Given the description of an element on the screen output the (x, y) to click on. 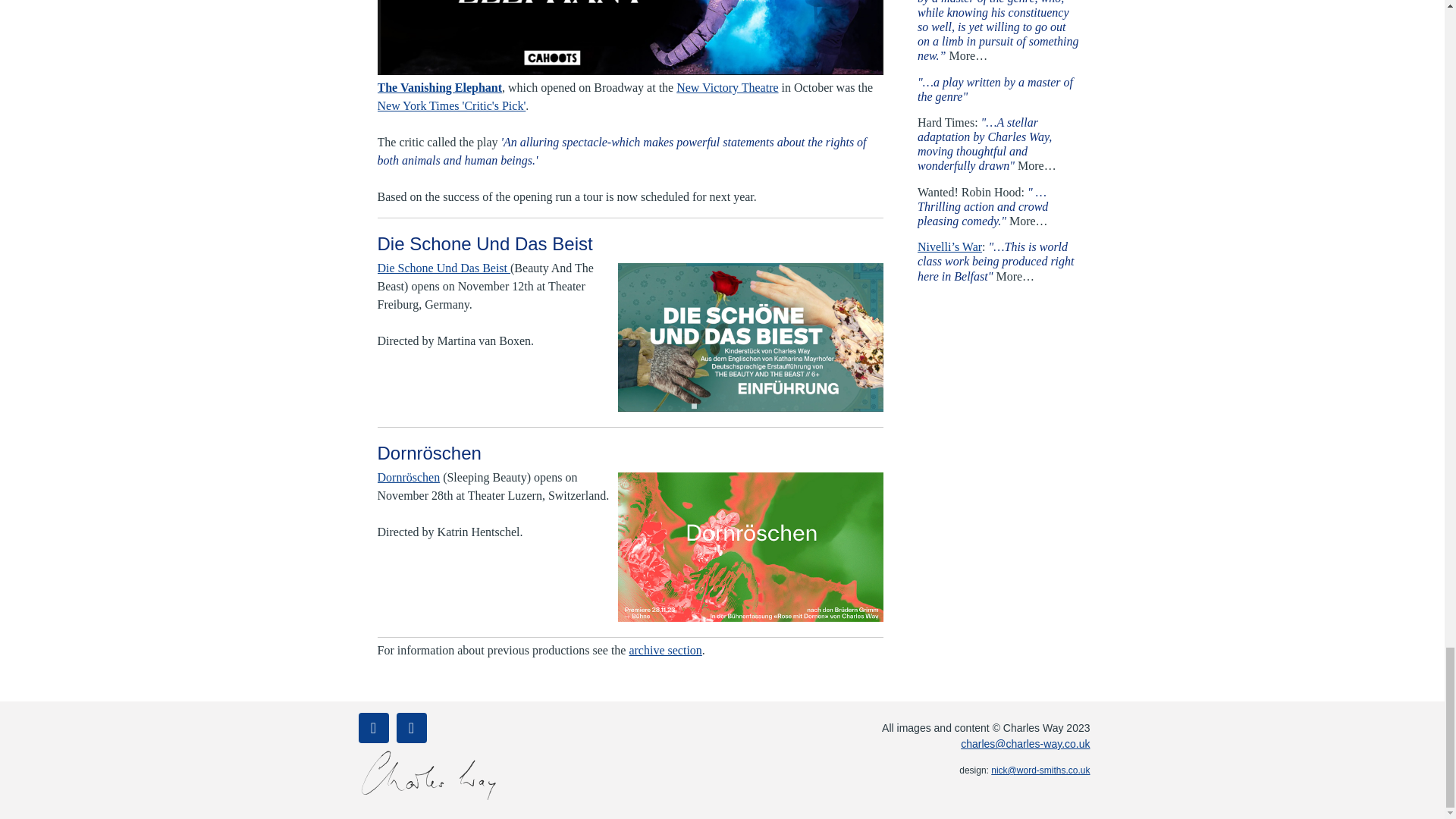
Die Schone Und Das Beist (444, 267)
The Vanishing Elephant (439, 87)
New York Times 'Critic's Pick' (451, 105)
archive section (664, 649)
New Victory Theatre (727, 87)
News archive (664, 649)
